Given the description of an element on the screen output the (x, y) to click on. 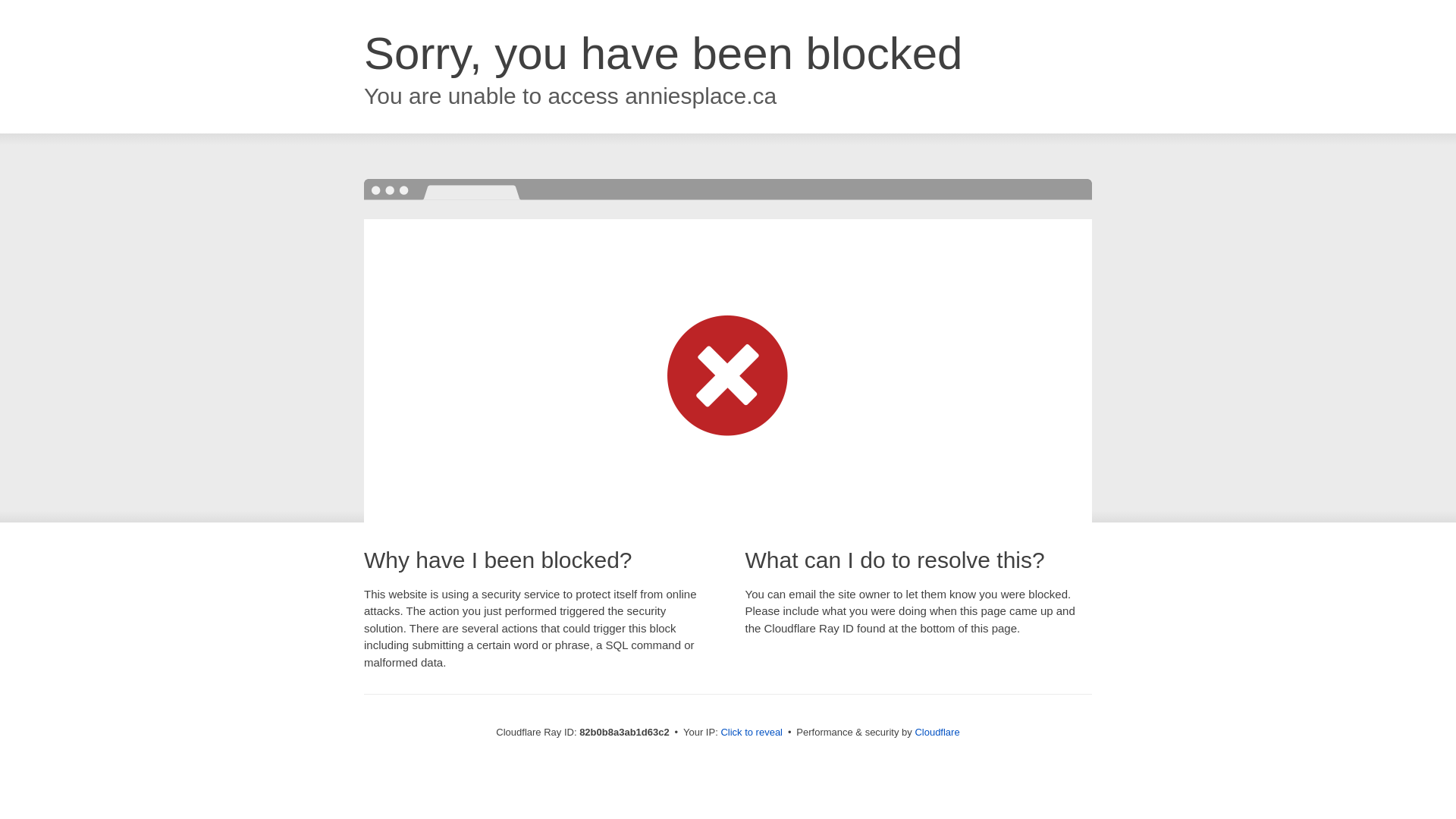
Click to reveal Element type: text (751, 732)
Cloudflare Element type: text (936, 731)
